Given the description of an element on the screen output the (x, y) to click on. 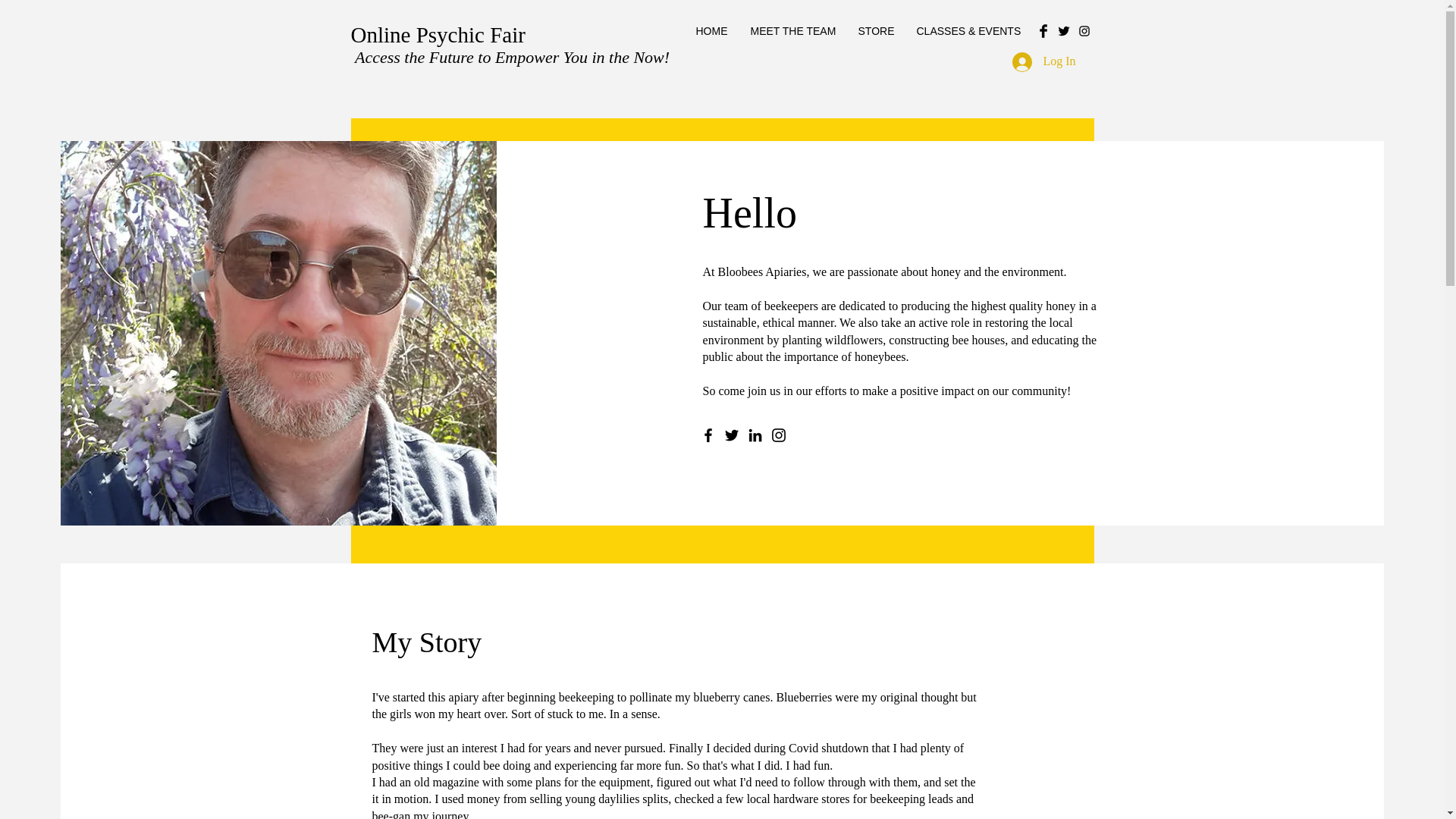
Log In (1043, 61)
Online Psychic Fair (437, 34)
HOME (711, 30)
MEET THE TEAM (791, 30)
STORE (874, 30)
